Given the description of an element on the screen output the (x, y) to click on. 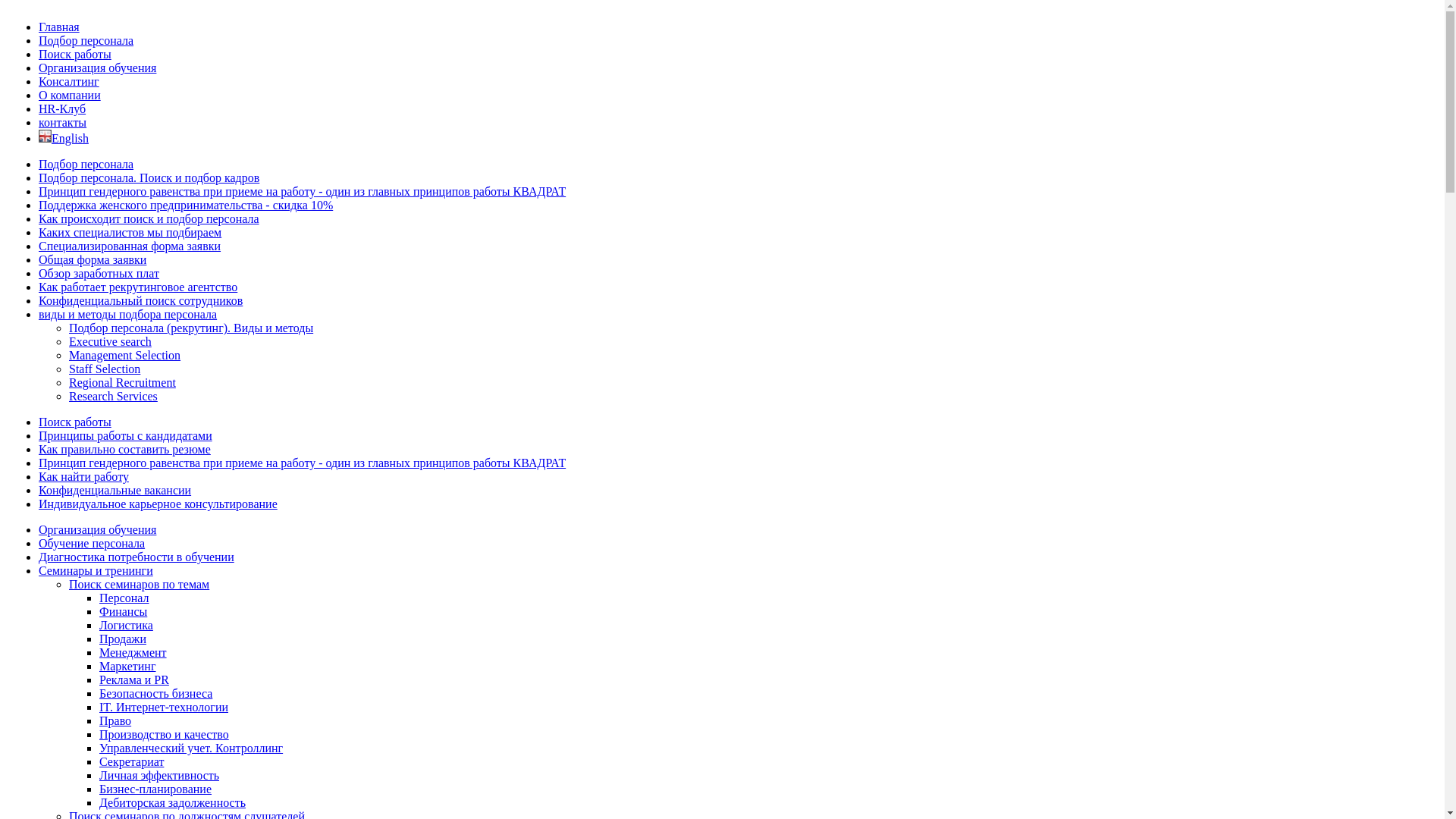
Executive search Element type: text (110, 341)
Regional Recruitment Element type: text (122, 382)
Management Selection Element type: text (124, 354)
Staff Selection Element type: text (104, 368)
Research Services Element type: text (113, 395)
English Element type: text (63, 137)
